Given the description of an element on the screen output the (x, y) to click on. 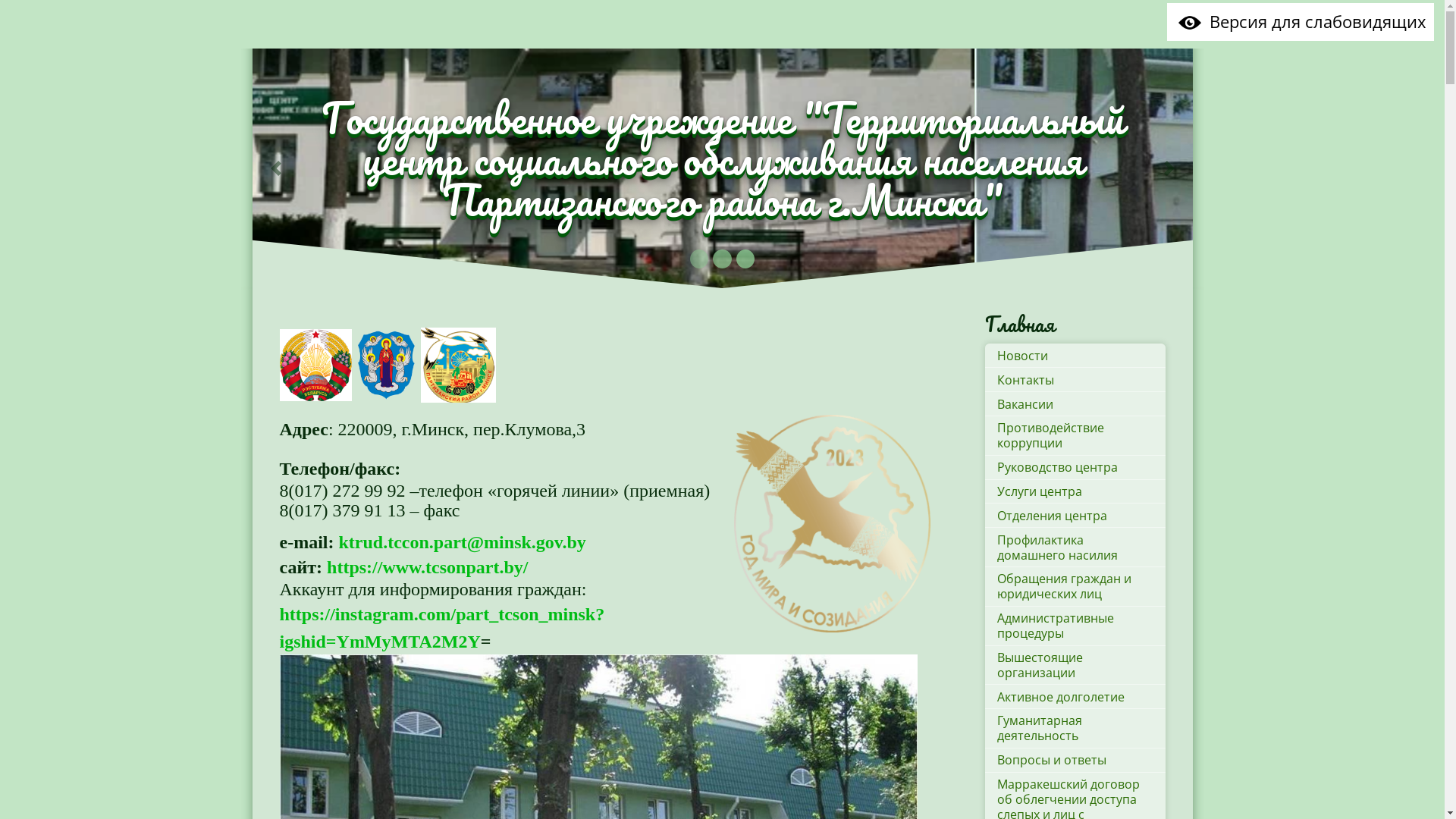
https://www.tcsonpart.by/ Element type: text (426, 567)
ktrud.tccon.part@minsk.gov.by Element type: text (461, 542)
https://instagram.com/part_tcson_minsk?igshid=YmMyMTA2M2Y Element type: text (441, 627)
